Given the description of an element on the screen output the (x, y) to click on. 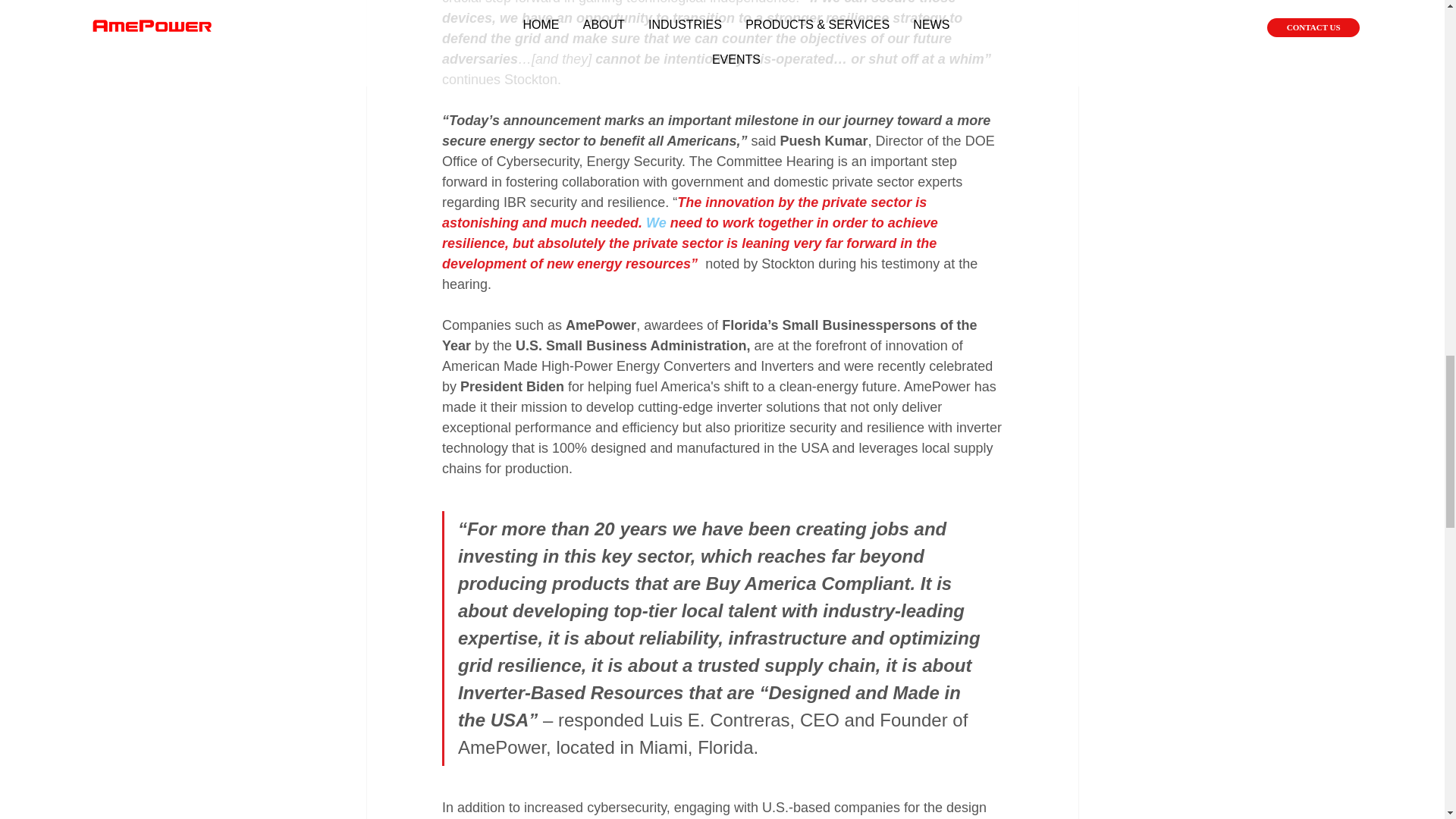
and  (536, 222)
much  (570, 222)
the private sector  (856, 201)
is astonishing  (685, 212)
The innovation by  (737, 201)
